Given the description of an element on the screen output the (x, y) to click on. 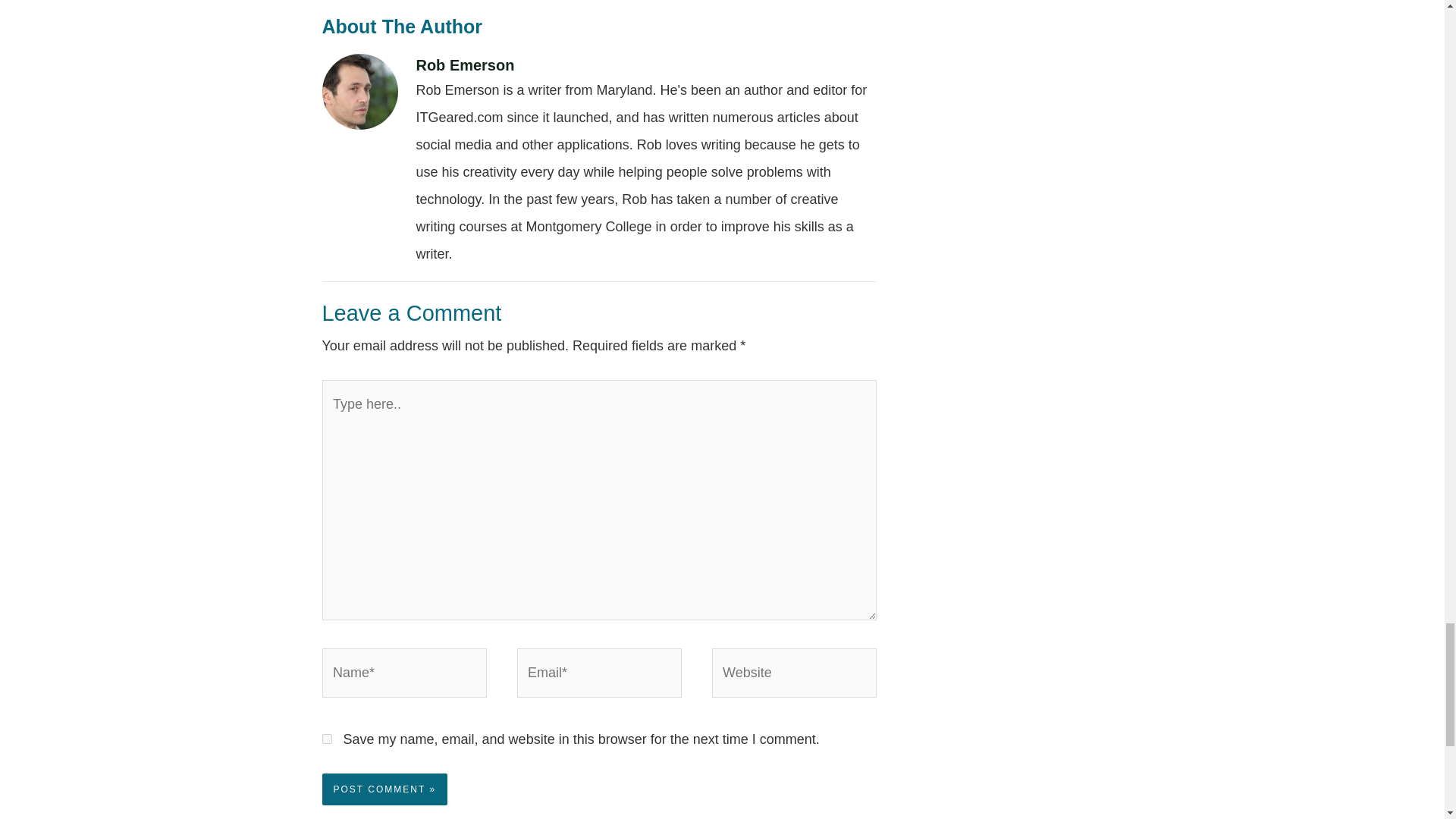
yes (326, 738)
